Given the description of an element on the screen output the (x, y) to click on. 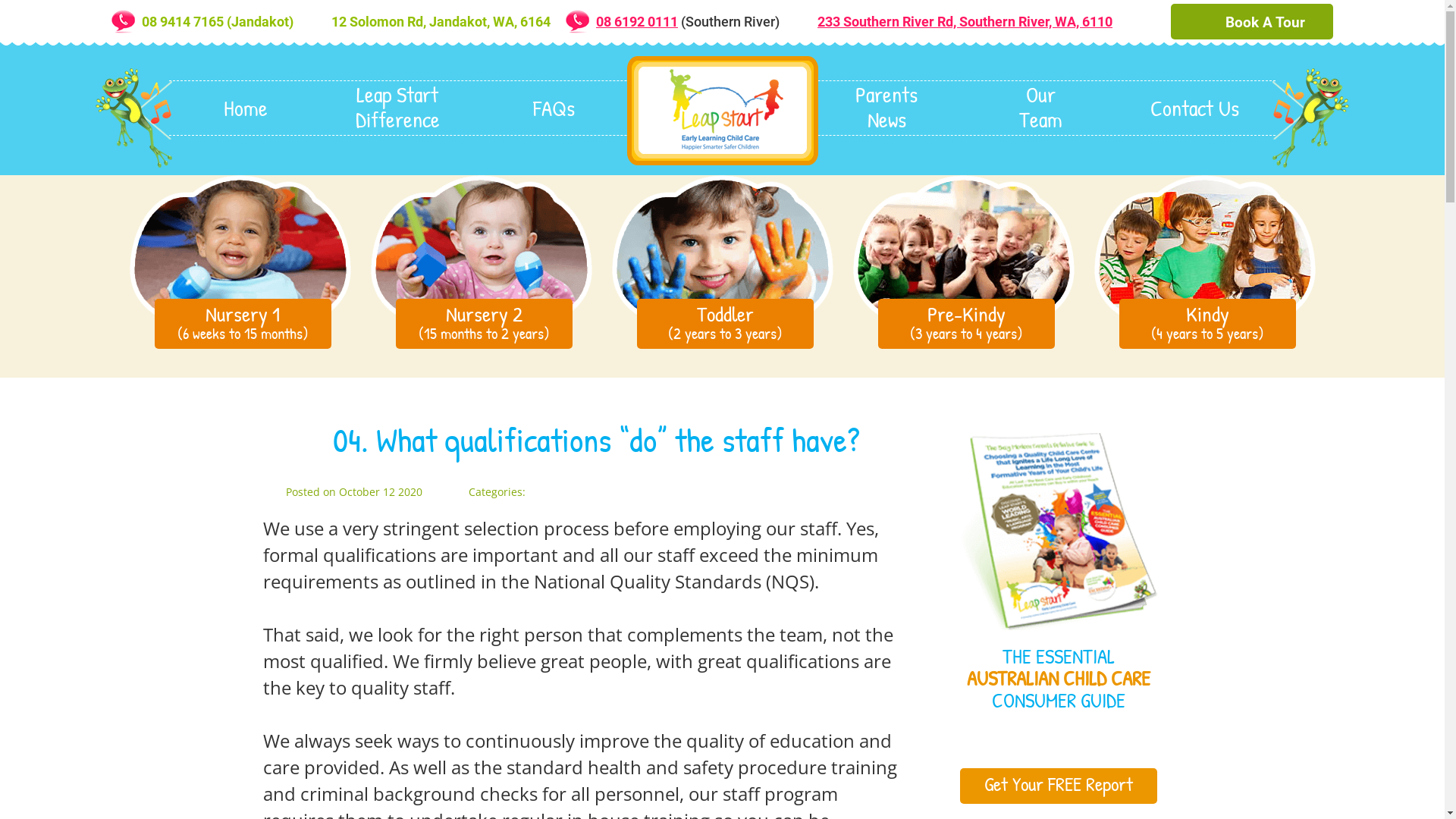
Book A Tour Element type: text (1251, 21)
Nursery 2
(15 months to 2 years) Element type: text (480, 260)
Contact Us Element type: text (1194, 107)
Nursery 1
(6 weeks to 15 months) Element type: text (239, 260)
08 9414 7165 (Jandakot) Element type: text (217, 21)
Home Element type: text (246, 107)
FAQs Element type: text (553, 107)
Our Team Element type: text (1040, 107)
Kindy
(4 years to 5 years) Element type: text (1203, 260)
Get Your FREE Report Element type: text (1058, 785)
08 6192 0111 Element type: text (636, 21)
Leap Start Difference Element type: text (399, 107)
233 Southern River Rd, Southern River, WA, 6110 Element type: text (964, 21)
12 Solomon Rd, Jandakot, WA, 6164 Element type: text (440, 21)
Parents News Element type: text (886, 107)
Toddler
(2 years to 3 years) Element type: text (721, 260)
Pre-Kindy
(3 years to 4 years) Element type: text (962, 260)
